Given the description of an element on the screen output the (x, y) to click on. 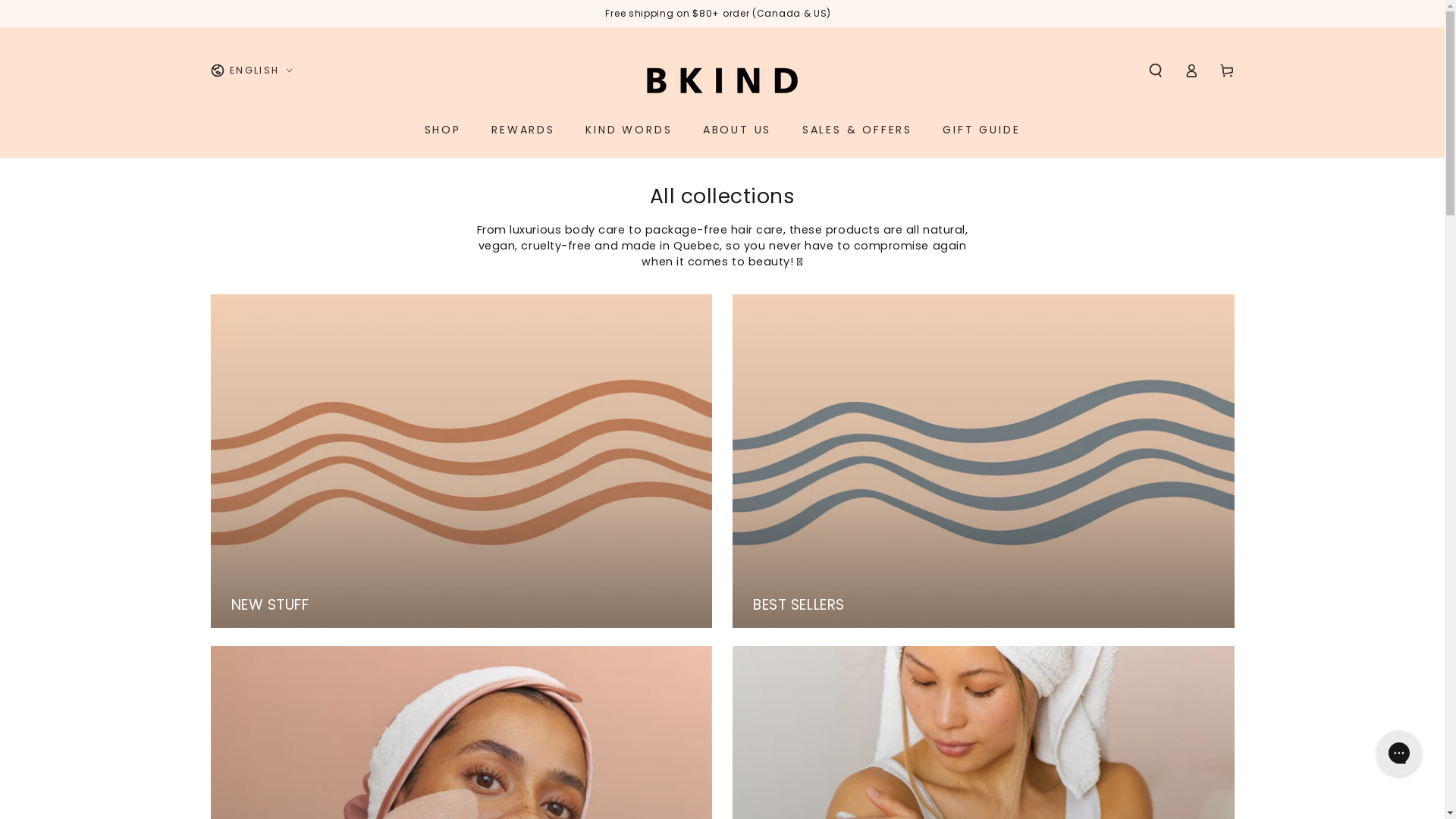
ABOUT US Element type: text (736, 129)
KIND WORDS Element type: text (628, 129)
Log in Element type: text (1190, 70)
SHOP Element type: text (442, 129)
NEW STUFF Element type: text (461, 461)
SALES & OFFERS Element type: text (856, 129)
GIFT GUIDE Element type: text (981, 129)
ENGLISH Element type: text (250, 70)
Gorgias live chat messenger Element type: hover (1398, 752)
BEST SELLERS Element type: text (983, 461)
REWARDS Element type: text (523, 129)
Submit Element type: text (21, 7)
